Given the description of an element on the screen output the (x, y) to click on. 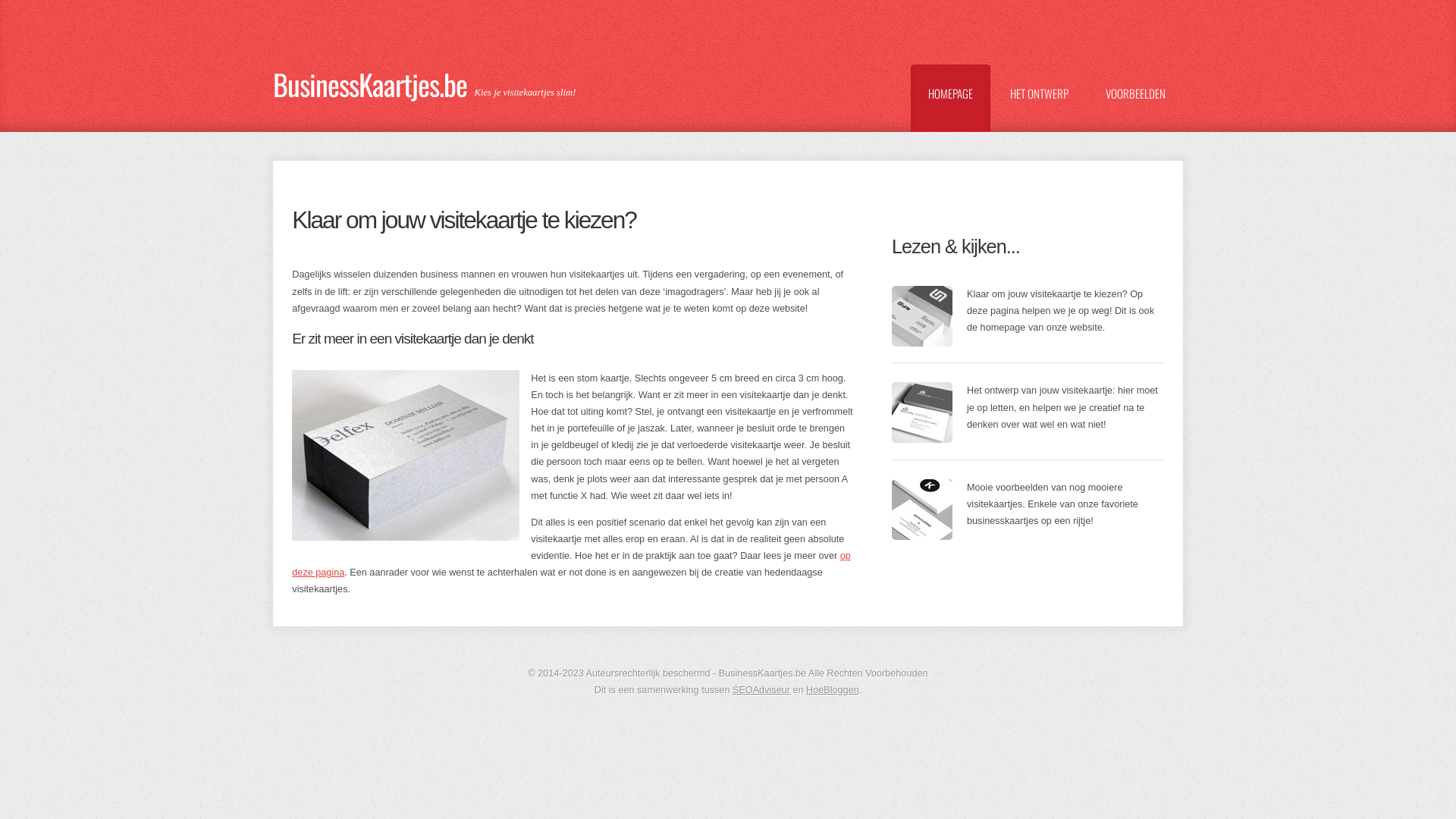
BusinessKaartjes.be Element type: text (373, 76)
HoeBloggen Element type: text (832, 689)
HOMEPAGE Element type: text (950, 110)
op deze pagina Element type: text (570, 563)
SEOAdviseur Element type: text (761, 689)
VOORBEELDEN Element type: text (1135, 110)
HET ONTWERP Element type: text (1038, 110)
